Given the description of an element on the screen output the (x, y) to click on. 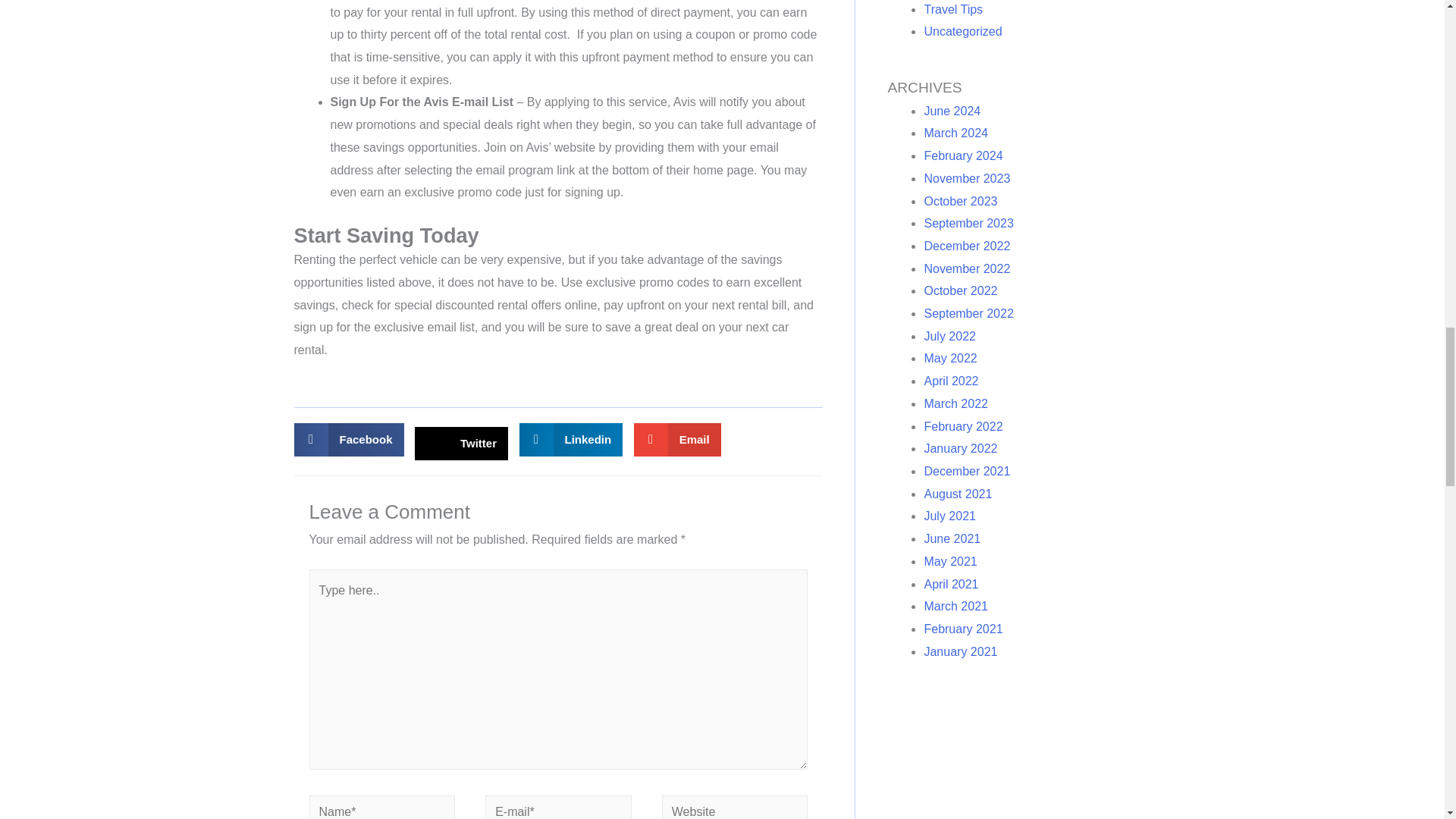
Facebook (348, 439)
Twitter (461, 443)
Email (677, 439)
Linkedin (571, 439)
